Given the description of an element on the screen output the (x, y) to click on. 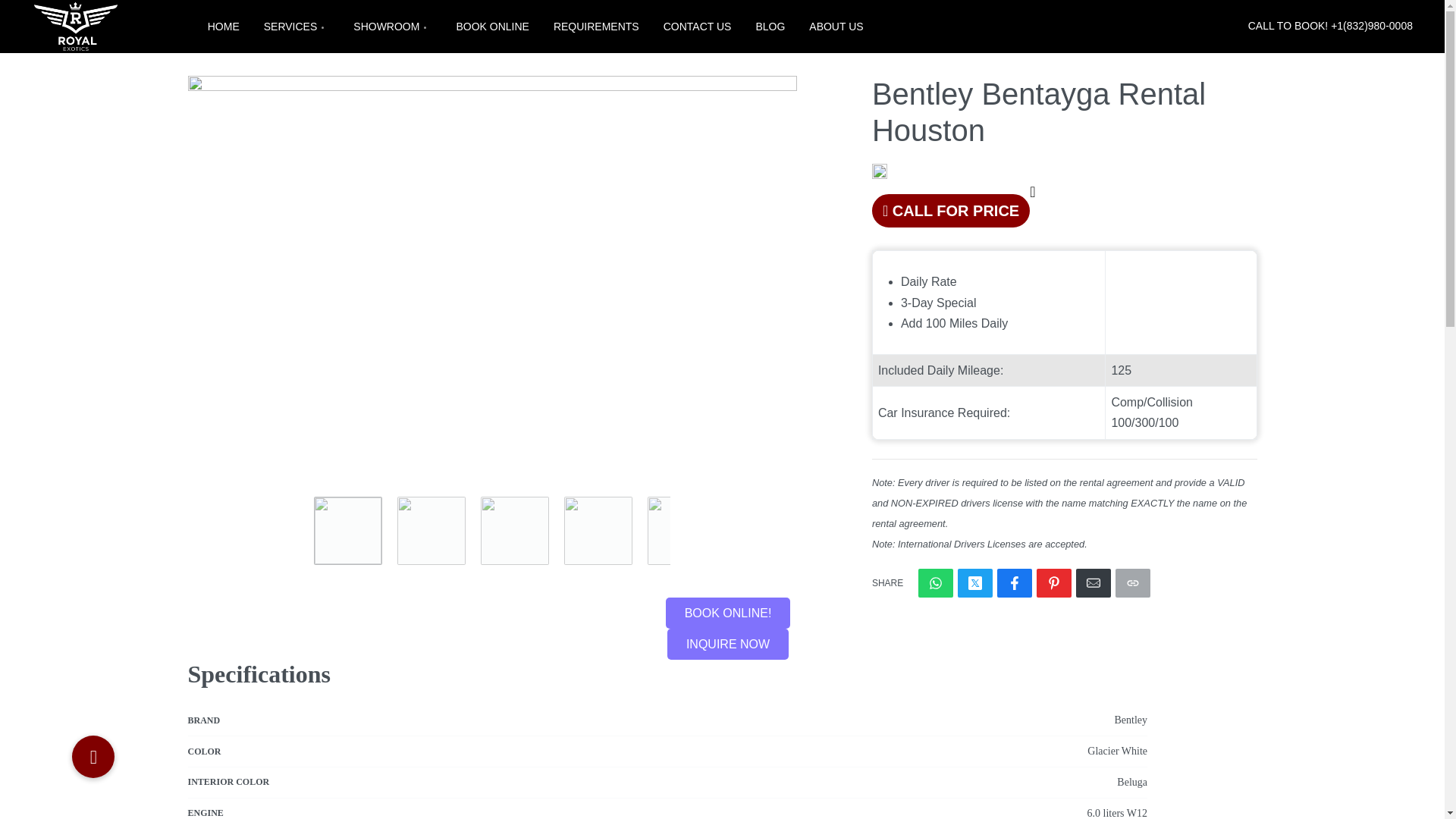
CONTACT US (697, 27)
SHOWROOM (391, 27)
BOOK ONLINE (491, 27)
BLOG (769, 27)
ABOUT US (836, 27)
HOME (224, 27)
REQUIREMENTS (596, 27)
SERVICES (296, 27)
